Given the description of an element on the screen output the (x, y) to click on. 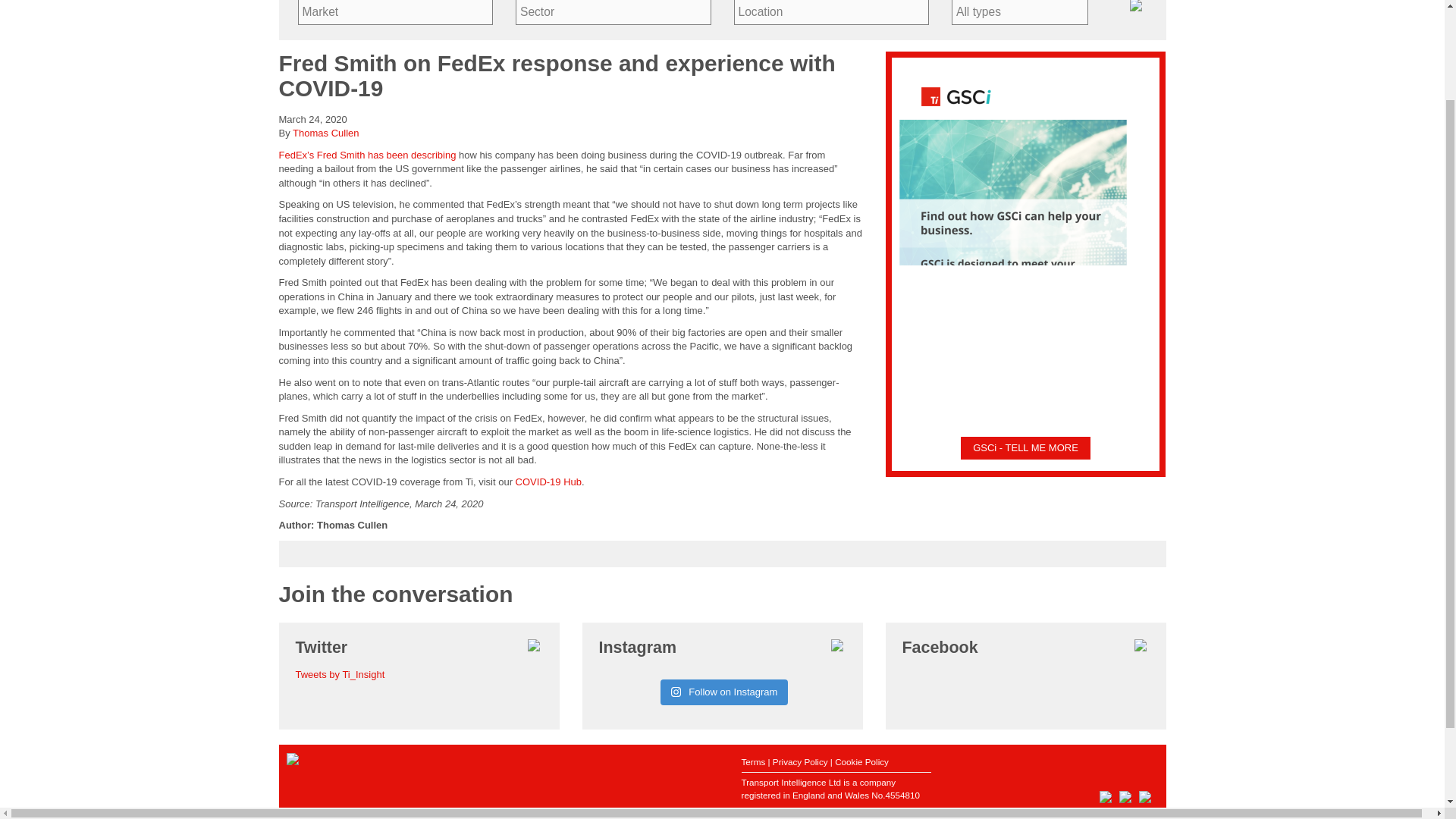
Thomas Cullen (325, 132)
COVID-19 Hub (547, 481)
GSCi - TELL ME MORE (1025, 448)
